Given the description of an element on the screen output the (x, y) to click on. 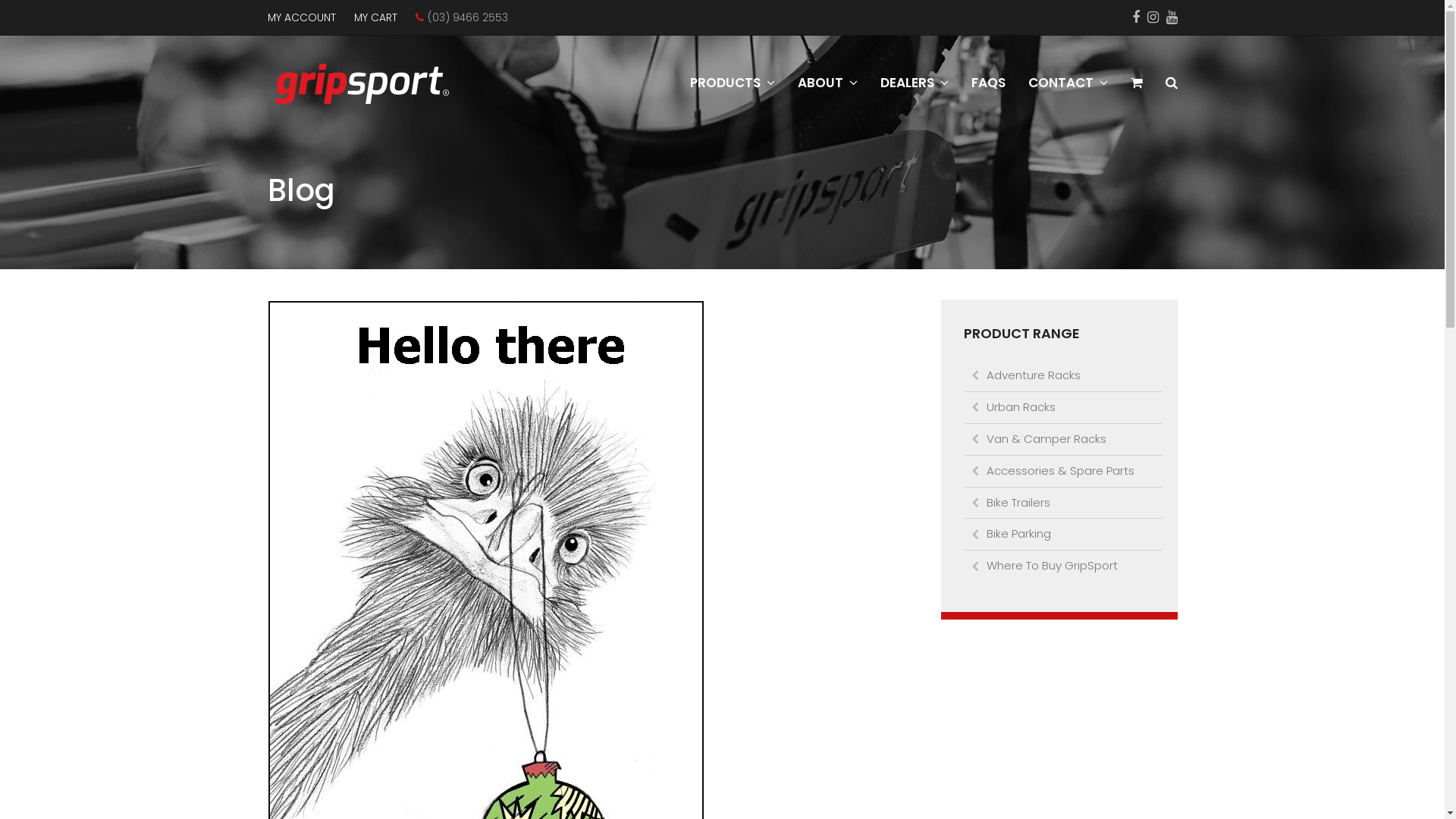
Bike Trailers Element type: text (1062, 501)
Instagram Element type: text (1151, 17)
Van & Camper Racks Element type: text (1062, 439)
Accessories & Spare Parts Element type: text (1062, 470)
MY ACCOUNT Element type: text (300, 17)
Urban Racks Element type: text (1062, 407)
CONTACT Element type: text (1067, 83)
Bike Parking Element type: text (1062, 533)
DEALERS Element type: text (914, 83)
Adventure Racks Element type: text (1062, 375)
ABOUT Element type: text (826, 83)
PRODUCTS Element type: text (731, 83)
FAQS Element type: text (988, 83)
Youtube Element type: text (1171, 17)
Facebook Element type: text (1135, 17)
MY CART Element type: text (374, 17)
Where To Buy GripSport Element type: text (1062, 565)
